Given the description of an element on the screen output the (x, y) to click on. 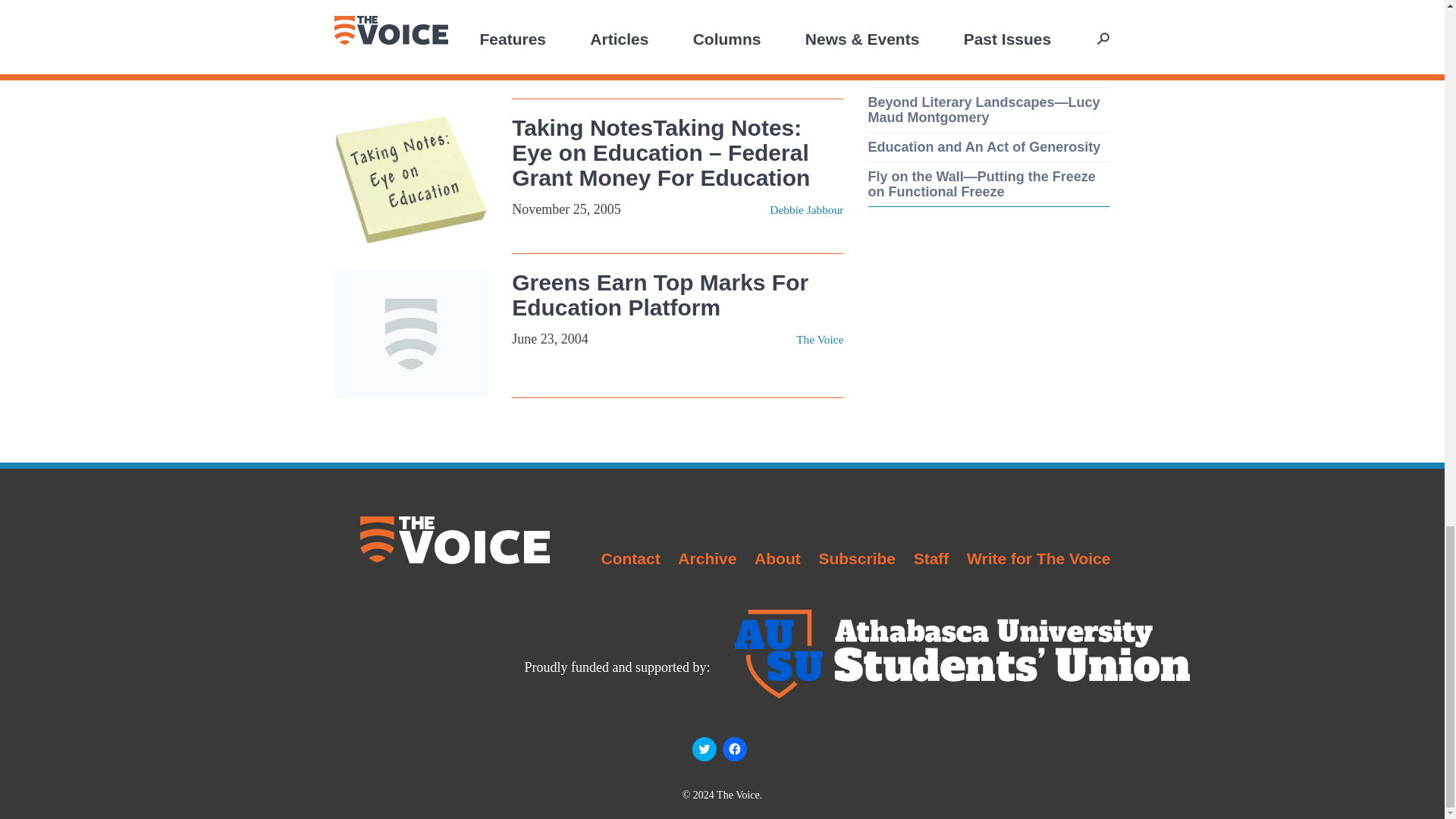
Posts by Ryan Pike (818, 53)
Posts by Debbie Jabbour (806, 209)
The Voice (819, 338)
Debbie Jabbour (806, 209)
Greens Earn Top Marks For Education Platform (660, 295)
Posts by The Voice (819, 338)
Ryan Pike (818, 53)
